Given the description of an element on the screen output the (x, y) to click on. 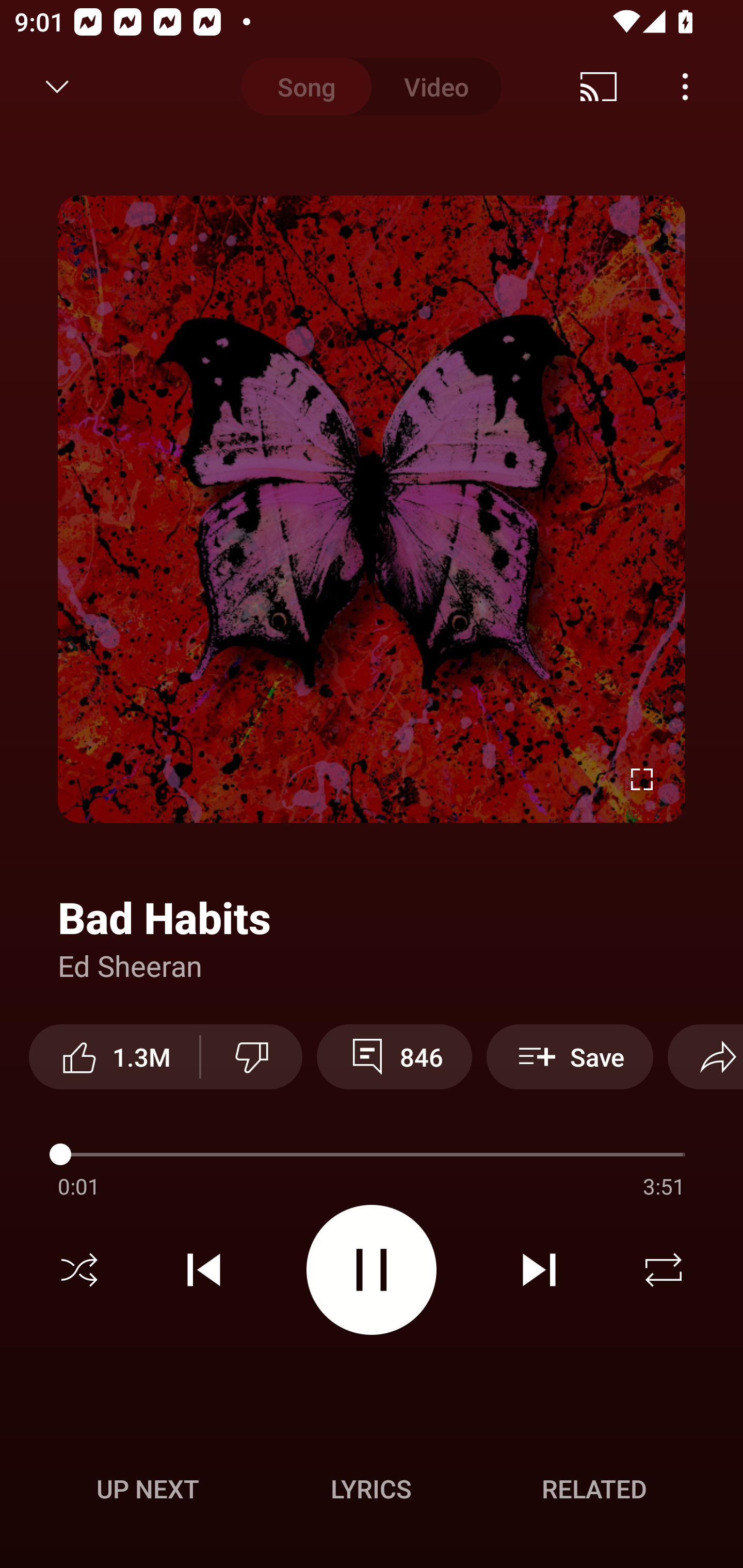
Search back (43, 86)
Cast. Disconnected (598, 86)
Menu (684, 86)
Enter fullscreen (641, 779)
Dislike (251, 1056)
846 View 846 comments (393, 1056)
Save Save to playlist (569, 1056)
Share (705, 1056)
Pause video (371, 1269)
Shuffle off (79, 1269)
Previous track (203, 1269)
Next track (538, 1269)
Repeat off (663, 1269)
Up next UP NEXT Lyrics LYRICS Related RELATED (371, 1491)
Lyrics LYRICS (370, 1488)
Related RELATED (594, 1488)
